Given the description of an element on the screen output the (x, y) to click on. 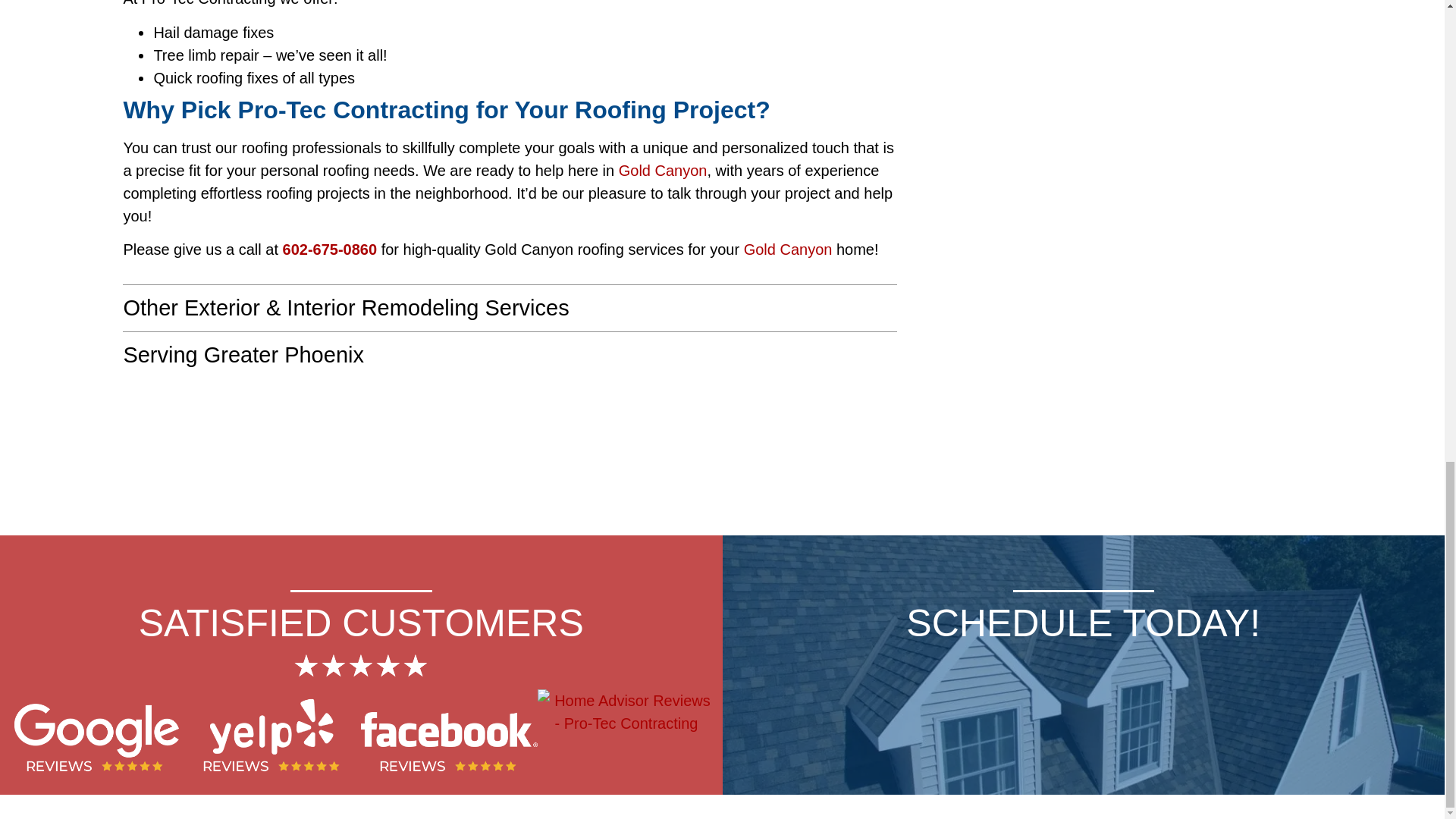
gold canyon, az (509, 450)
Gold Canyon (662, 170)
Gold Canyon (788, 248)
602-675-0860 (329, 248)
